Given the description of an element on the screen output the (x, y) to click on. 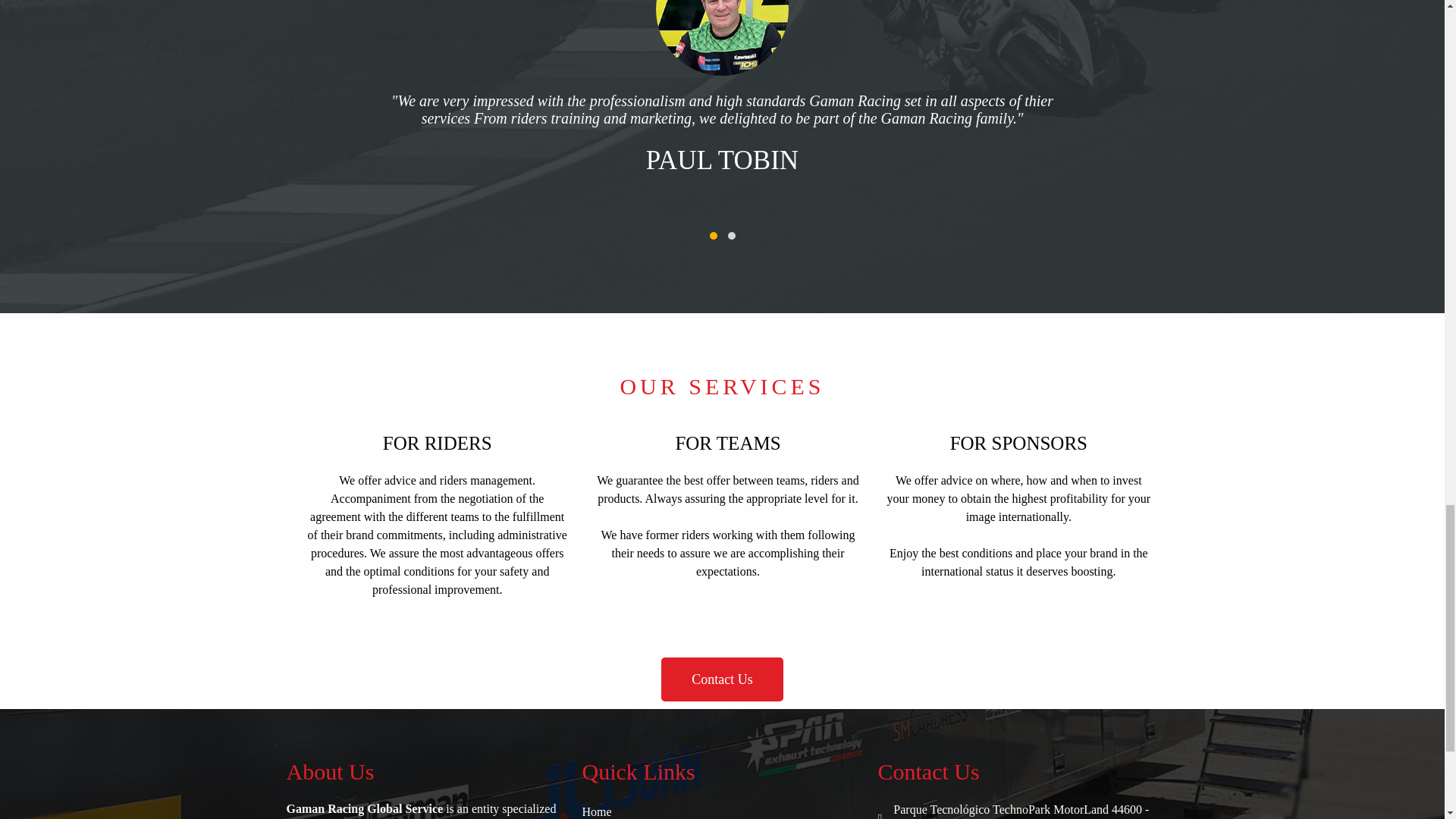
Home (722, 809)
Paul Tobin (722, 38)
Contact Us (722, 679)
